Given the description of an element on the screen output the (x, y) to click on. 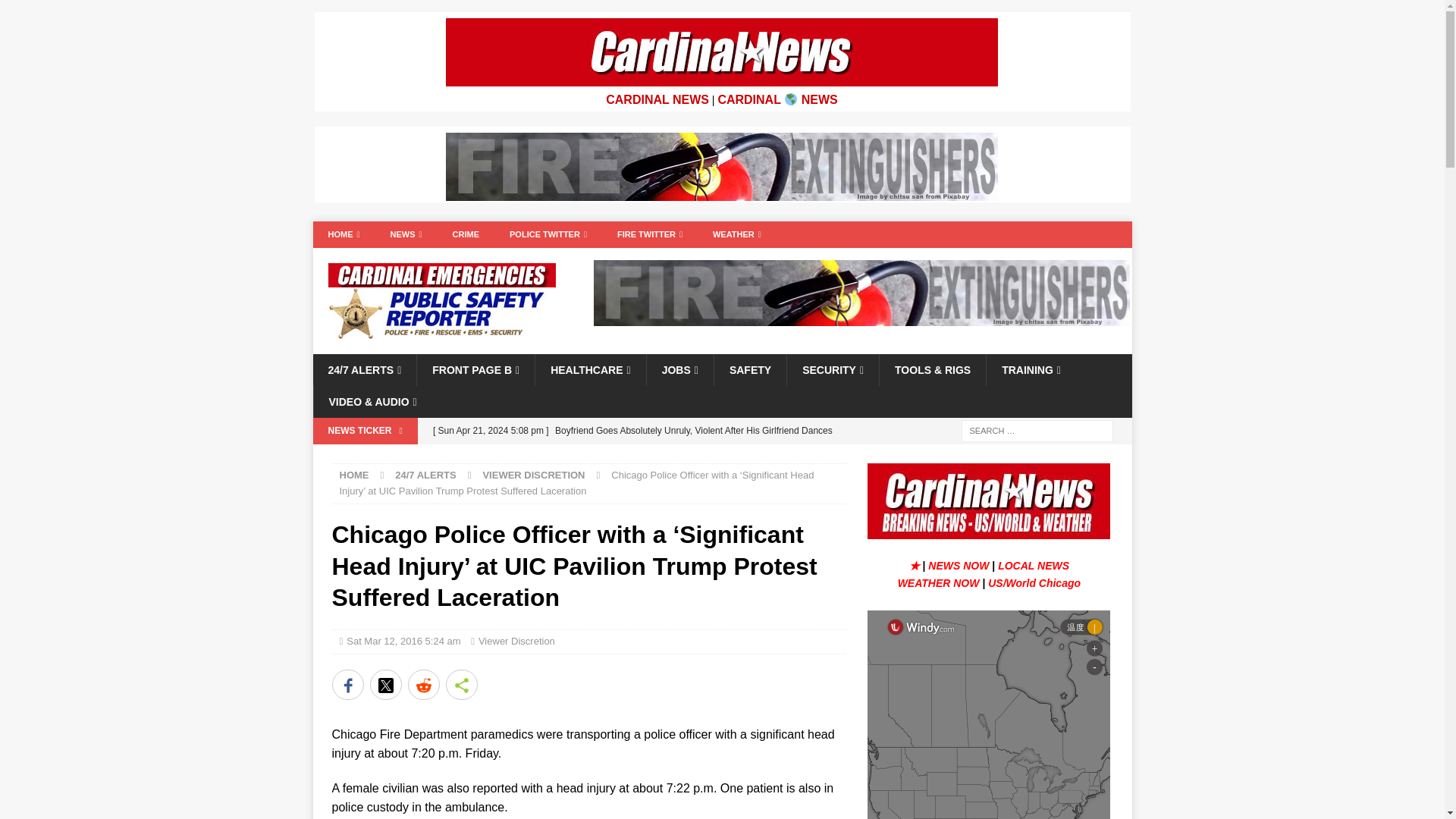
CARDINAL NEWS (777, 100)
Weather Now -- Current conditions with radar links (940, 582)
Local News (1032, 565)
CARDINAL NEWS (657, 100)
Police, Fire, Rescue, EMS, Security News (343, 234)
Breaking News (959, 565)
Favorites (915, 565)
